Given the description of an element on the screen output the (x, y) to click on. 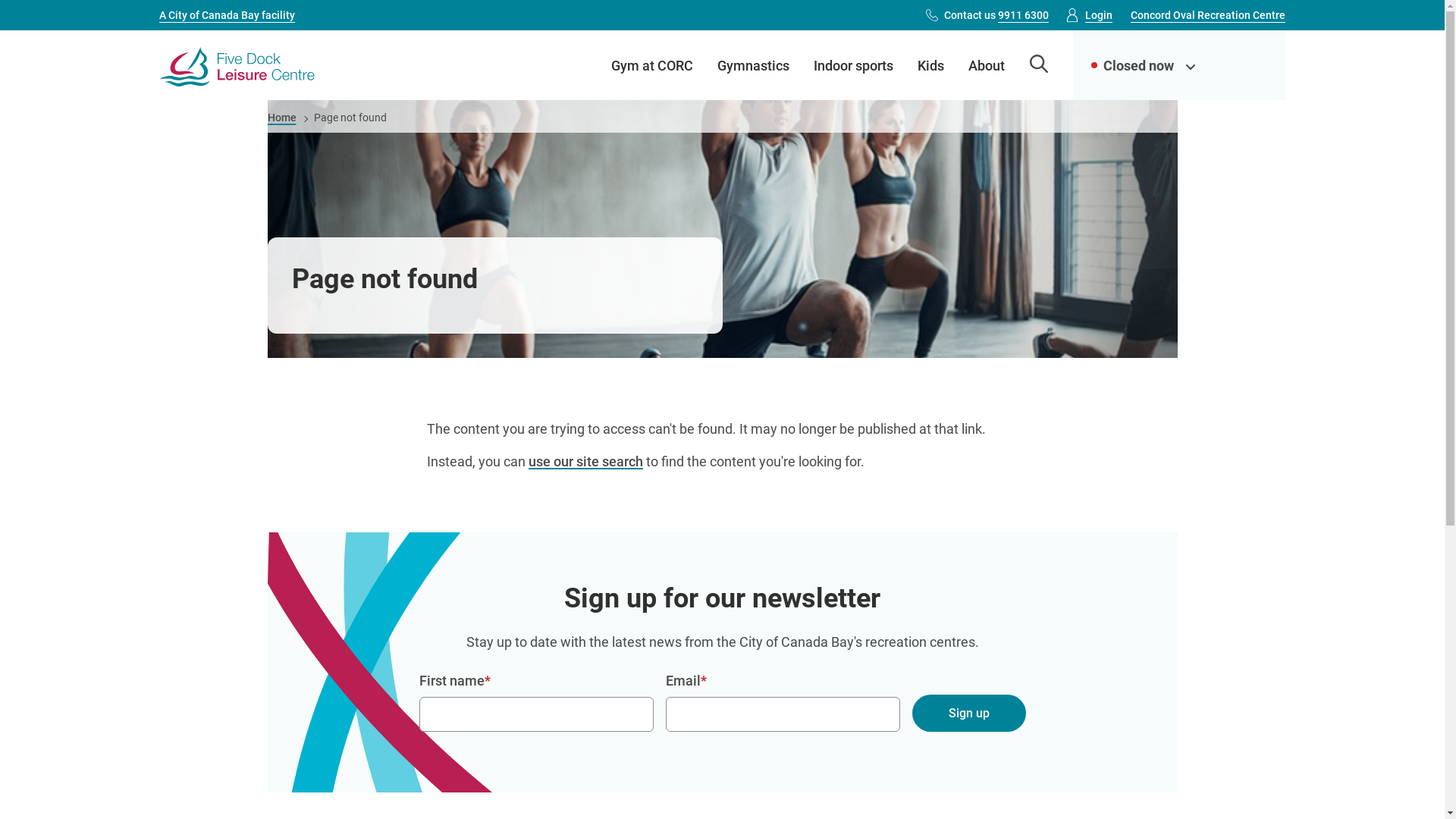
Kids Element type: text (930, 64)
Concord Oval Recreation Centre Element type: text (1207, 15)
Gymnastics Element type: text (753, 64)
Contact us 9911 6300 Element type: text (996, 15)
Home Element type: text (280, 117)
A City of Canada Bay facility Element type: text (226, 15)
use our site search Element type: text (584, 463)
Login Element type: text (1098, 15)
About Element type: text (986, 64)
Skip to main content Element type: text (0, 0)
Gym at CORC Element type: text (652, 64)
Indoor sports Element type: text (853, 64)
Sign up Element type: text (968, 713)
